Given the description of an element on the screen output the (x, y) to click on. 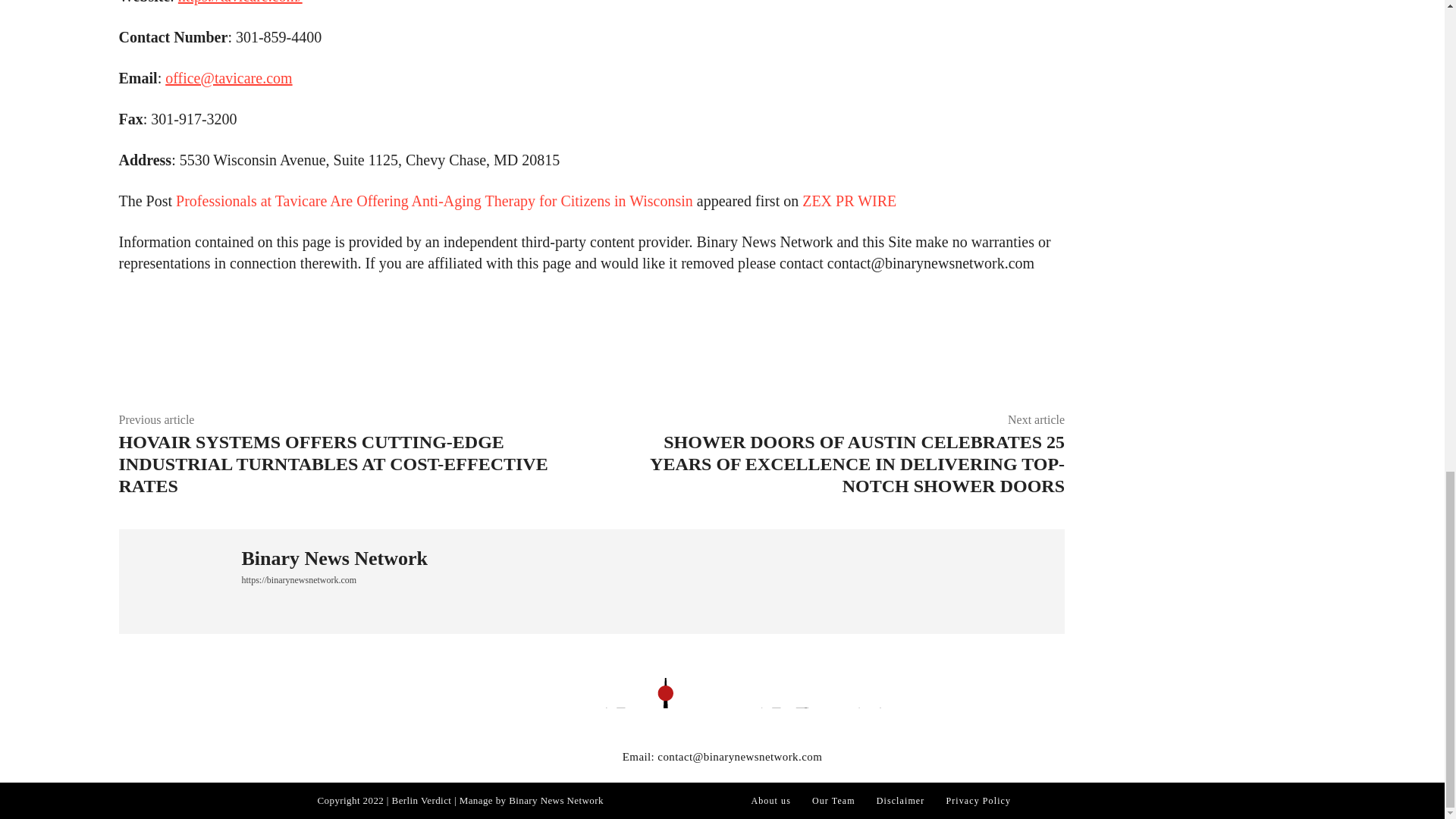
ZEX PR WIRE (849, 200)
